Given the description of an element on the screen output the (x, y) to click on. 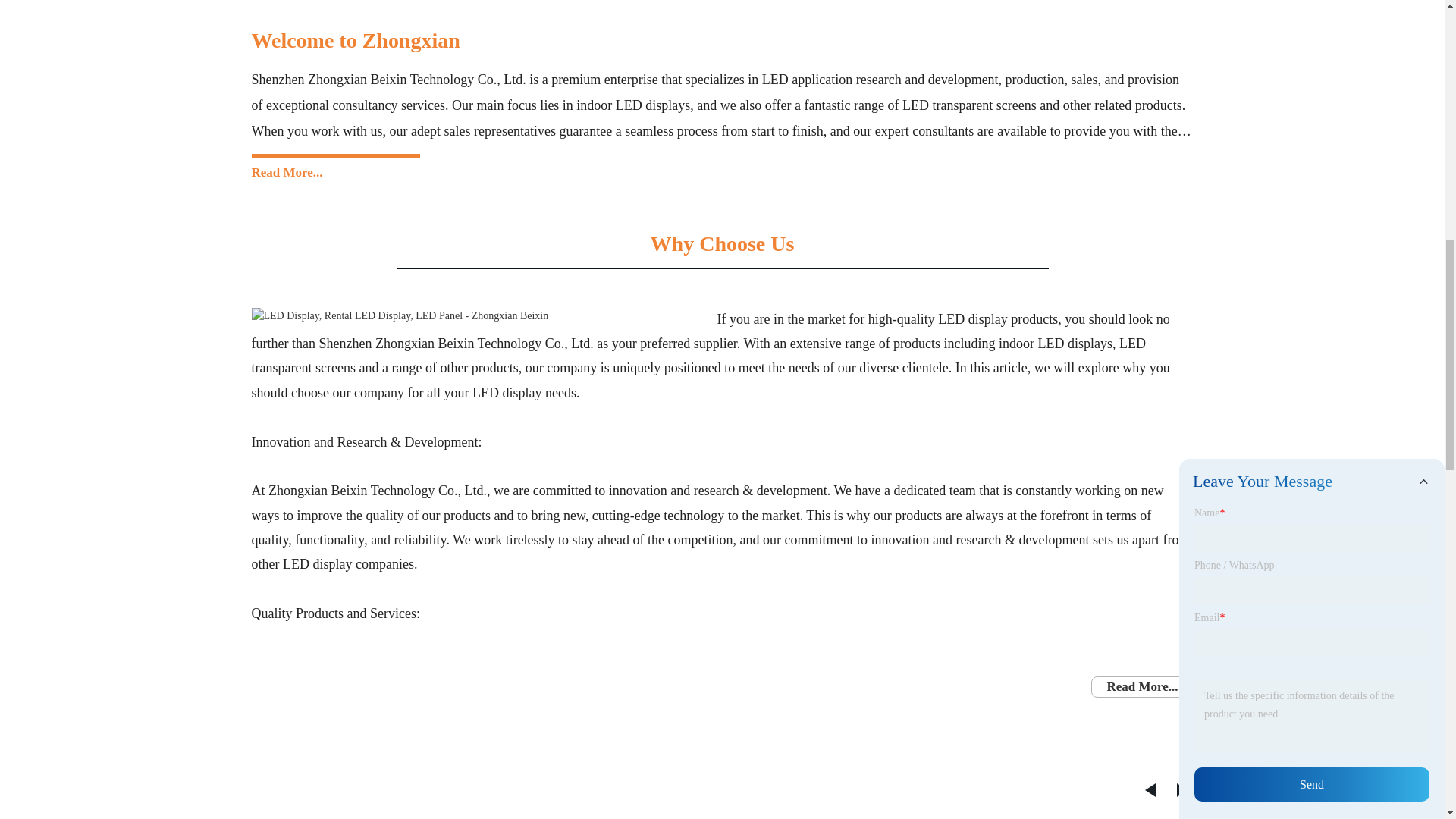
Read More... (1141, 685)
Read More... (287, 166)
